Given the description of an element on the screen output the (x, y) to click on. 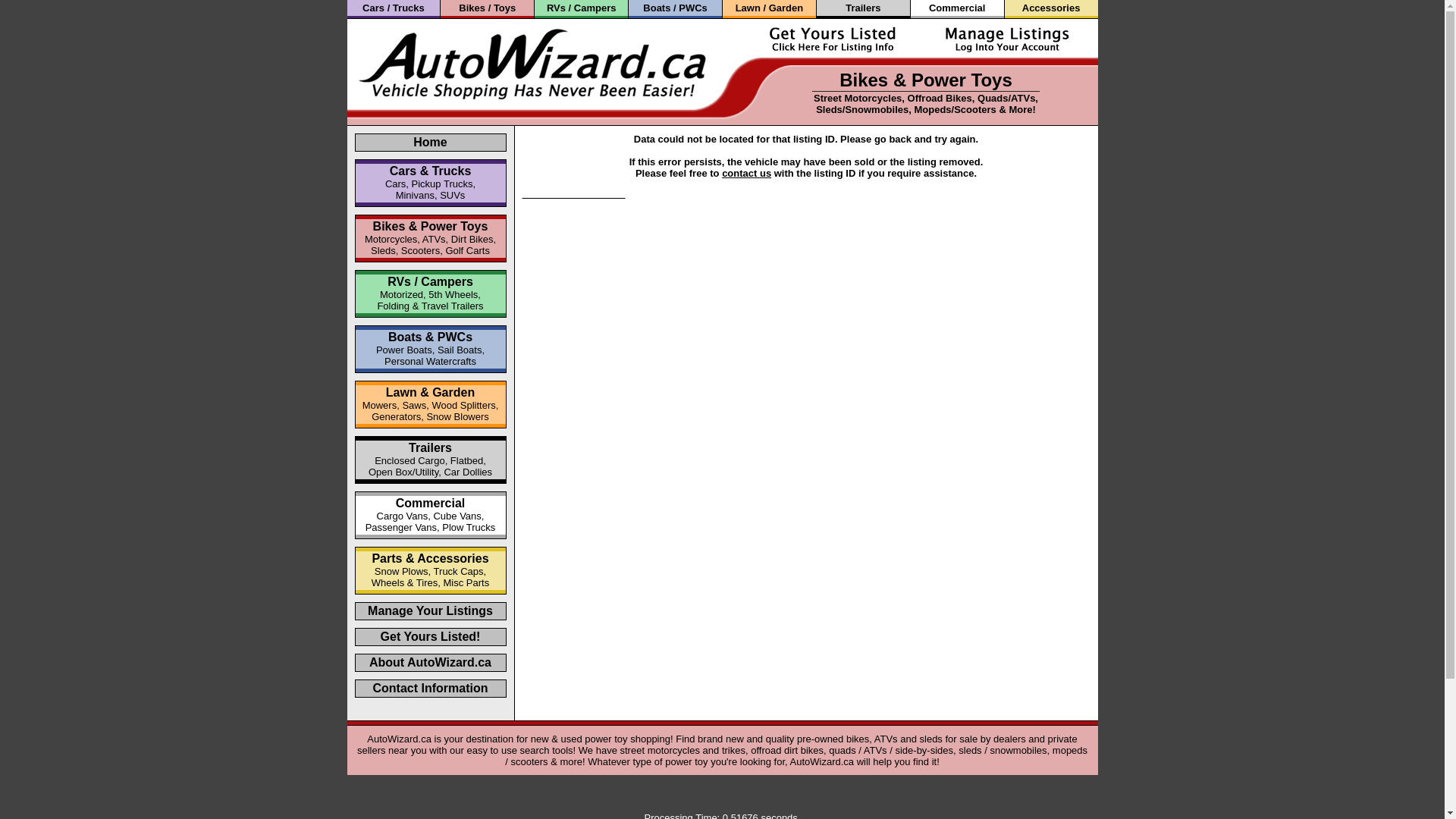
RVs / Campers Element type: text (581, 6)
About AutoWizard.ca Element type: text (430, 661)
Trailers Element type: text (862, 6)
contact us Element type: text (746, 172)
Home Element type: text (429, 141)
Boats & PWCs
Power Boats, Sail Boats,
Personal Watercrafts Element type: text (430, 348)
Manage Your Listings Element type: text (429, 610)
New & Used Vehicles For Sale Element type: text (572, 194)
Cars / Trucks Element type: text (393, 6)
Lawn / Garden Element type: text (769, 6)
Cars & Trucks
Cars, Pickup Trucks,
Minivans, SUVs Element type: text (430, 182)
Commercial Element type: text (956, 6)
Accessories Element type: text (1051, 6)
Bikes / Toys Element type: text (486, 6)
Contact Information Element type: text (430, 687)
Get Yours Listed! Element type: text (430, 636)
Boats / PWCs Element type: text (675, 6)
